Given the description of an element on the screen output the (x, y) to click on. 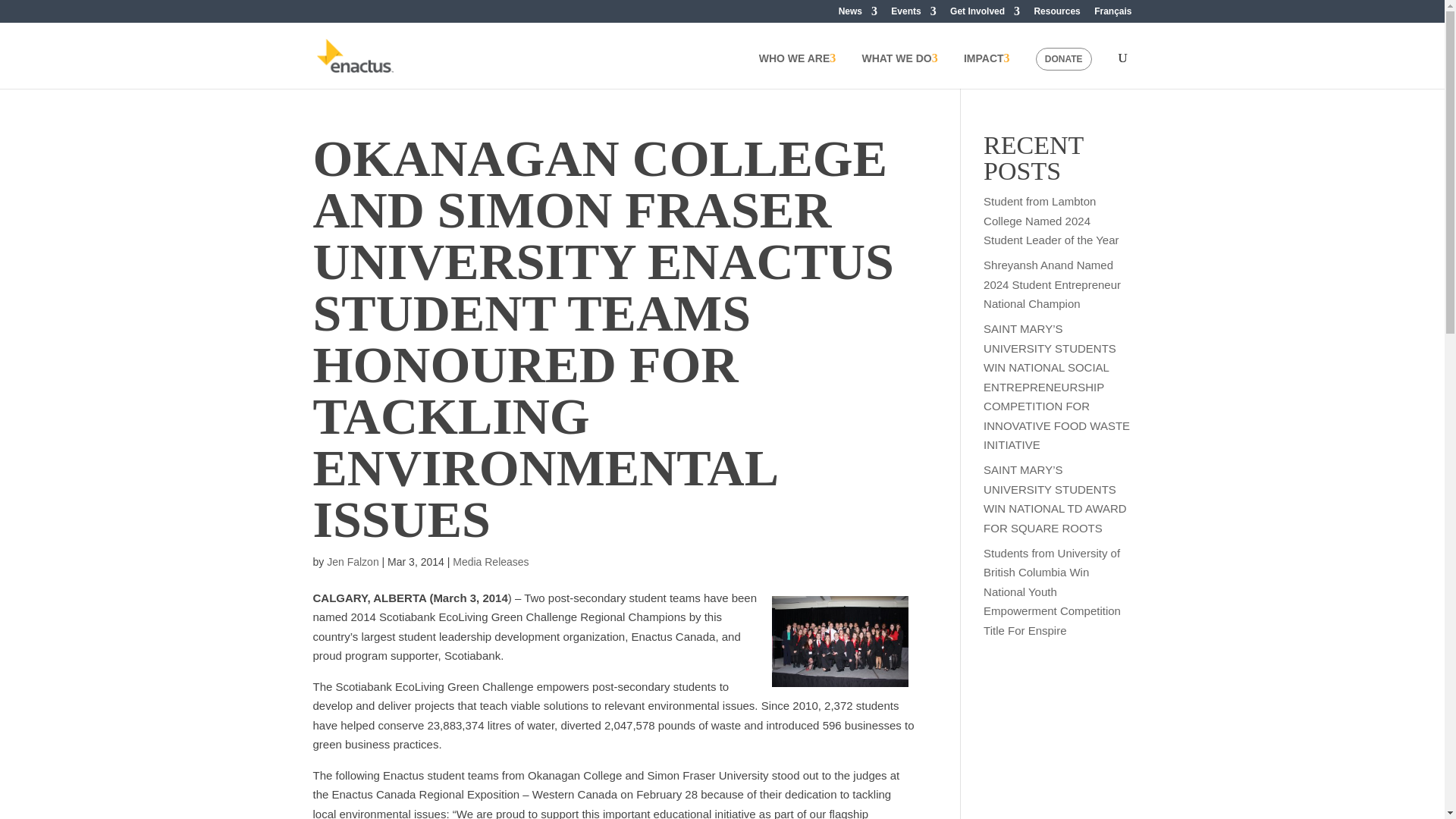
Posts by Jen Falzon (352, 562)
Events (913, 14)
Resources (1056, 14)
IMPACT (991, 70)
DONATE (1063, 58)
WHAT WE DO (903, 70)
WHO WE ARE (801, 70)
News (857, 14)
Get Involved (985, 14)
